Given the description of an element on the screen output the (x, y) to click on. 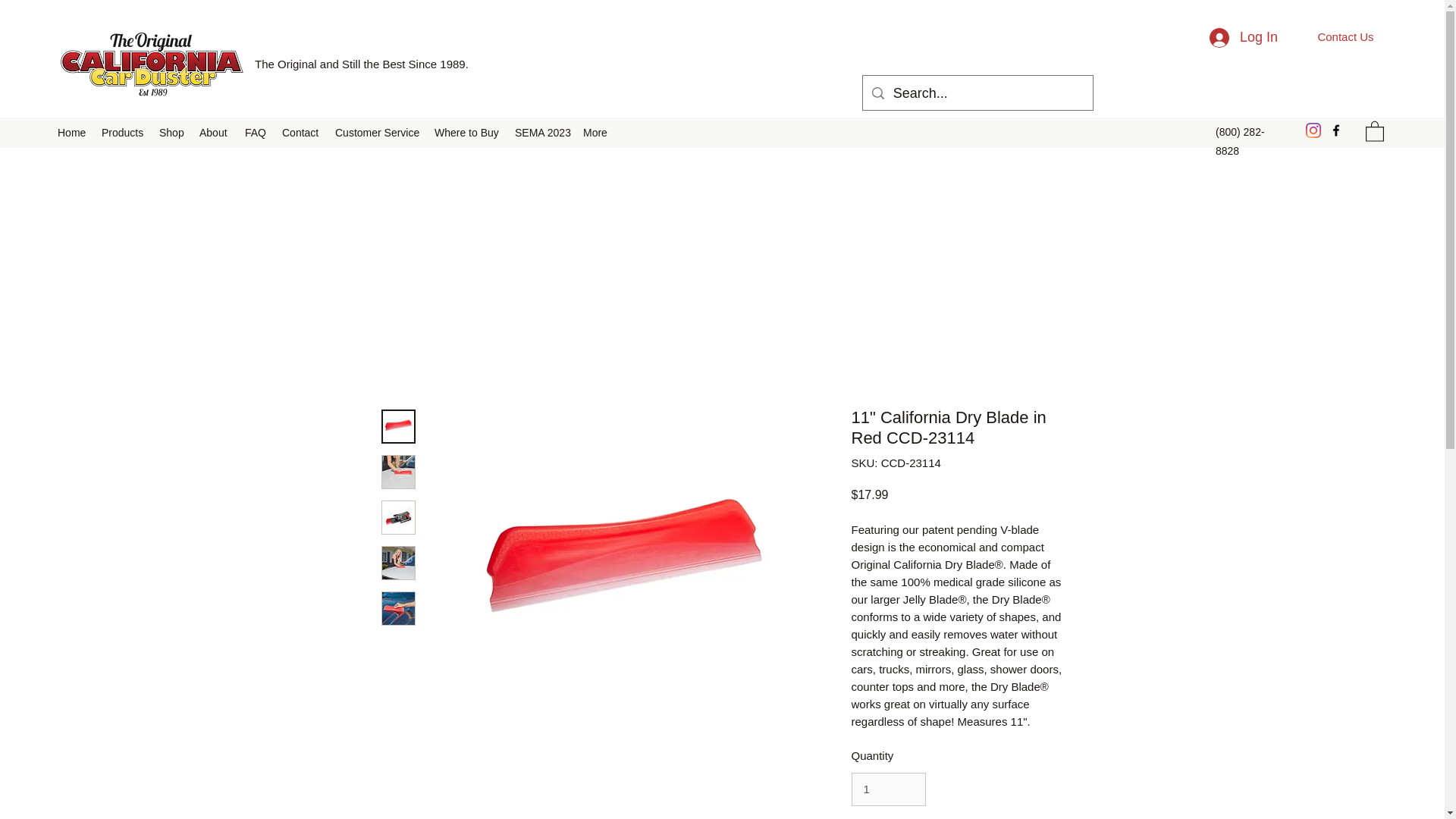
SEMA 2023 (540, 132)
Home (71, 132)
Contact Us (1345, 37)
Shop (171, 132)
Customer Service (376, 132)
FAQ (256, 132)
Log In (1243, 37)
1 (887, 789)
Where to Buy (466, 132)
About (214, 132)
Contact (301, 132)
Products (122, 132)
